Given the description of an element on the screen output the (x, y) to click on. 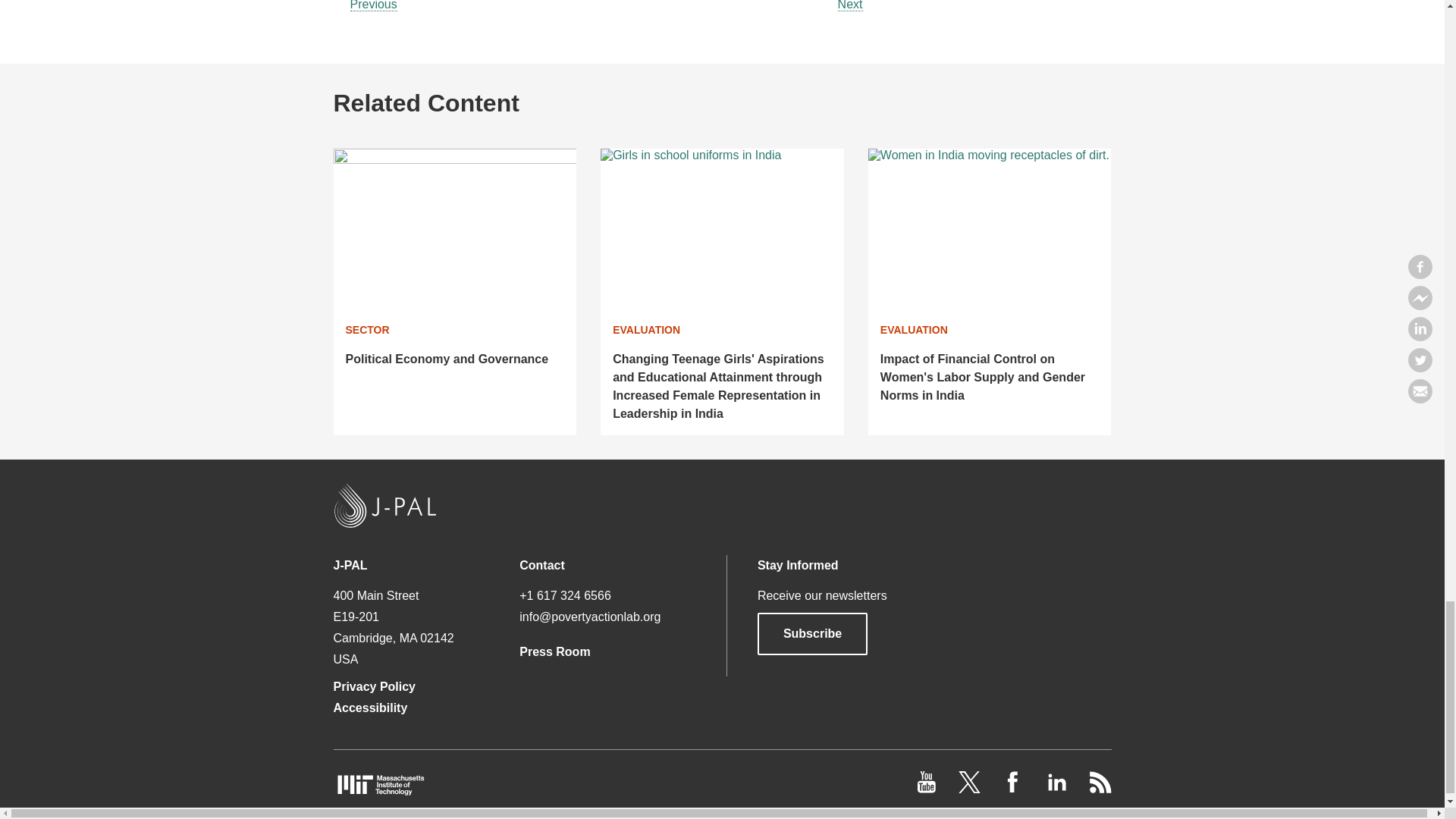
twitter (971, 788)
youtube (927, 788)
LinkedIn (1057, 788)
facebook (1015, 788)
rss feed (1099, 788)
